Given the description of an element on the screen output the (x, y) to click on. 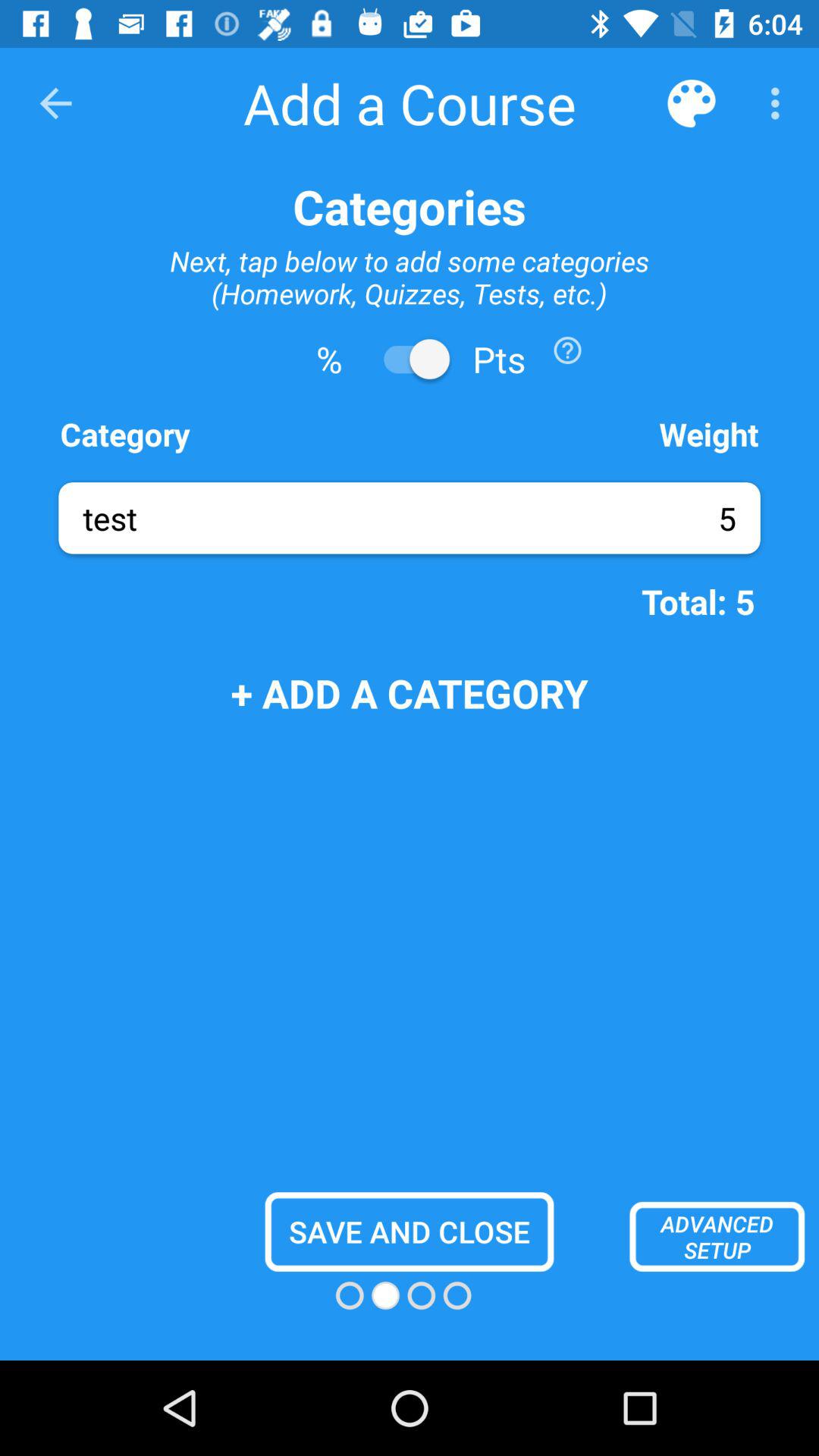
tap save and close (409, 1231)
